Given the description of an element on the screen output the (x, y) to click on. 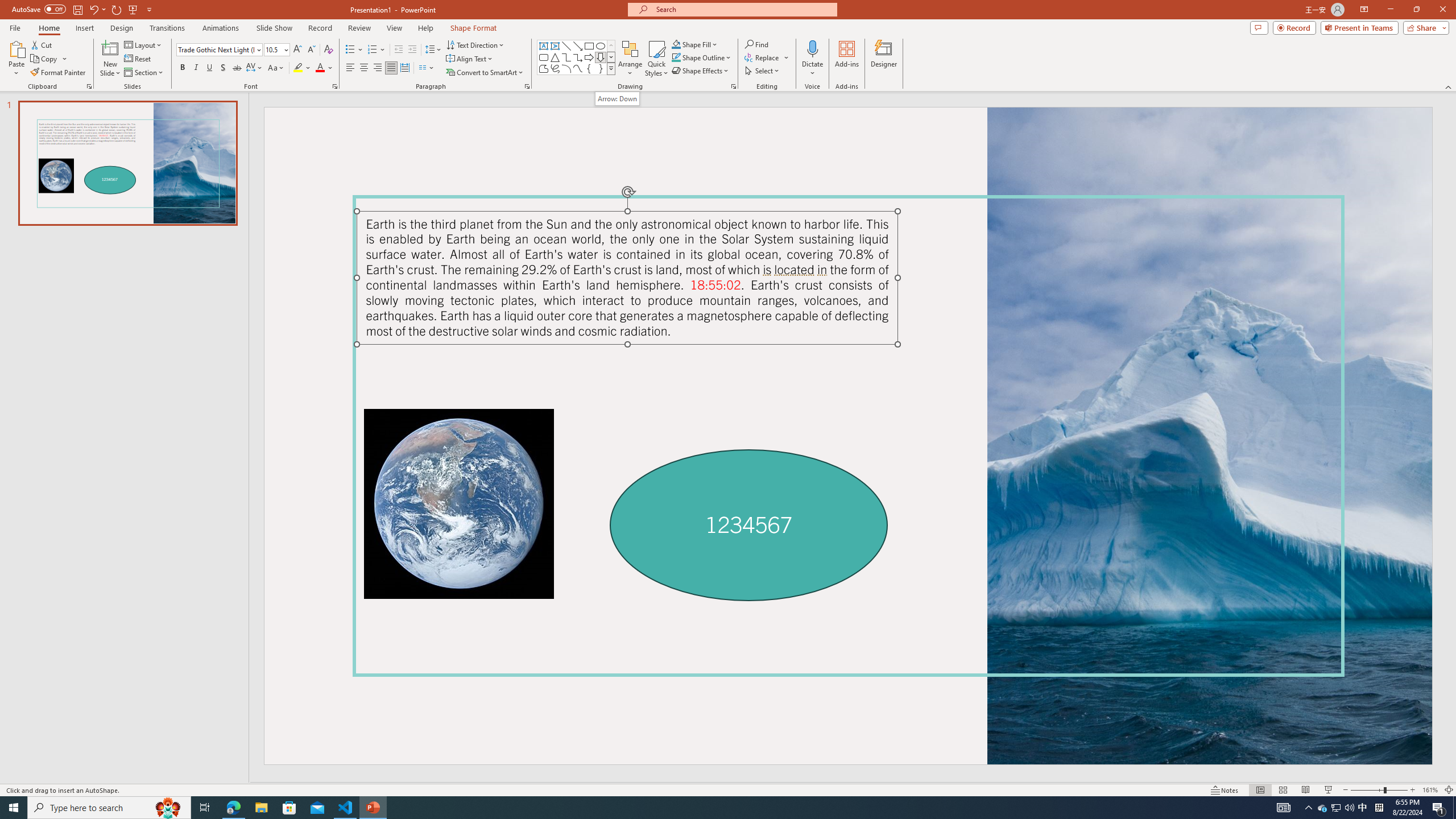
Zoom 161% (1430, 790)
